Given the description of an element on the screen output the (x, y) to click on. 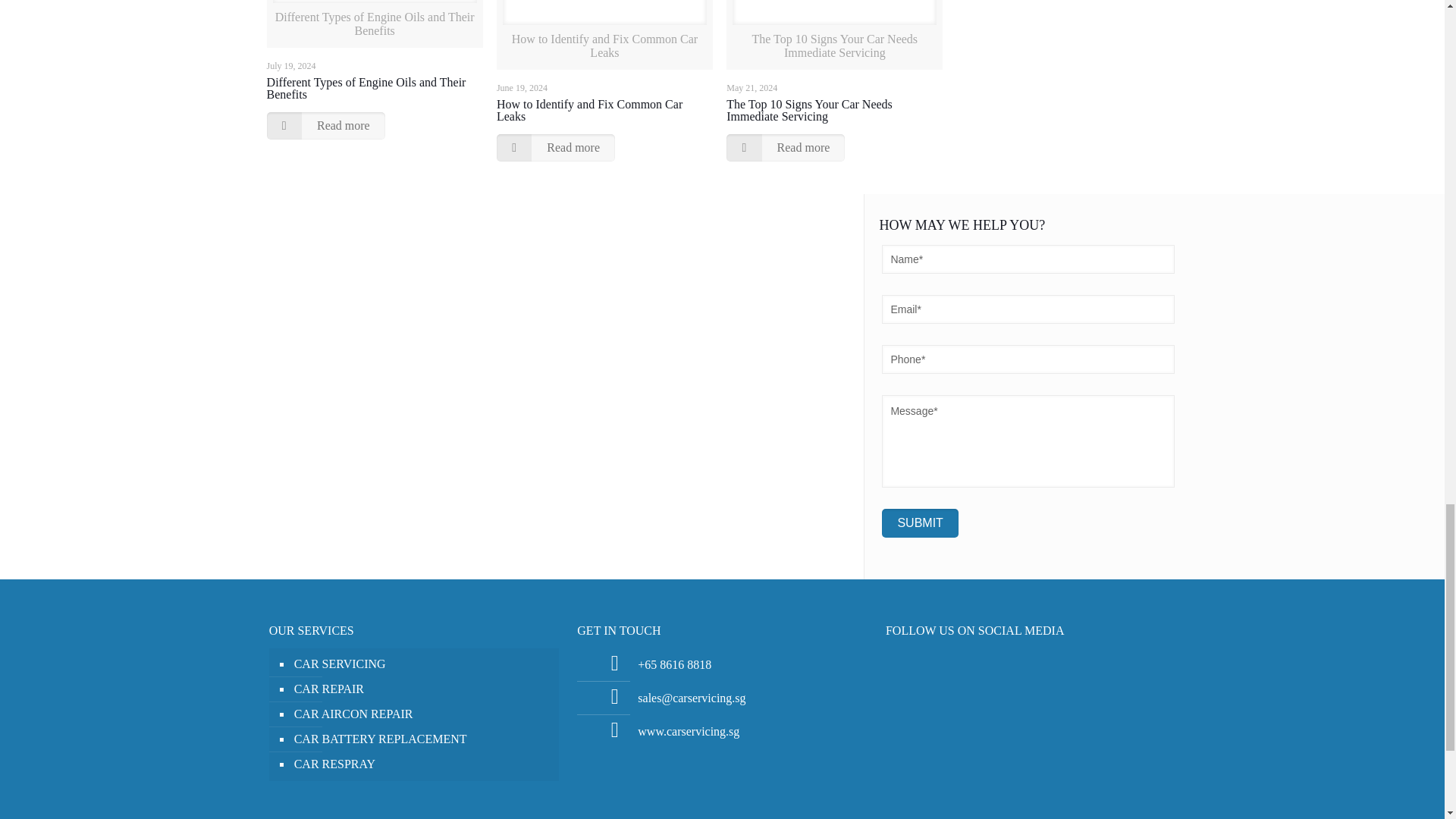
SUBMIT (920, 522)
Read more (325, 125)
How to Identify and Fix Common Car Leaks (589, 109)
Read more (555, 147)
The Top 10 Signs Your Car Needs Immediate Servicing (809, 109)
Read more (785, 147)
Different Types of Engine Oils and Their Benefits (365, 88)
SUBMIT (920, 522)
